Given the description of an element on the screen output the (x, y) to click on. 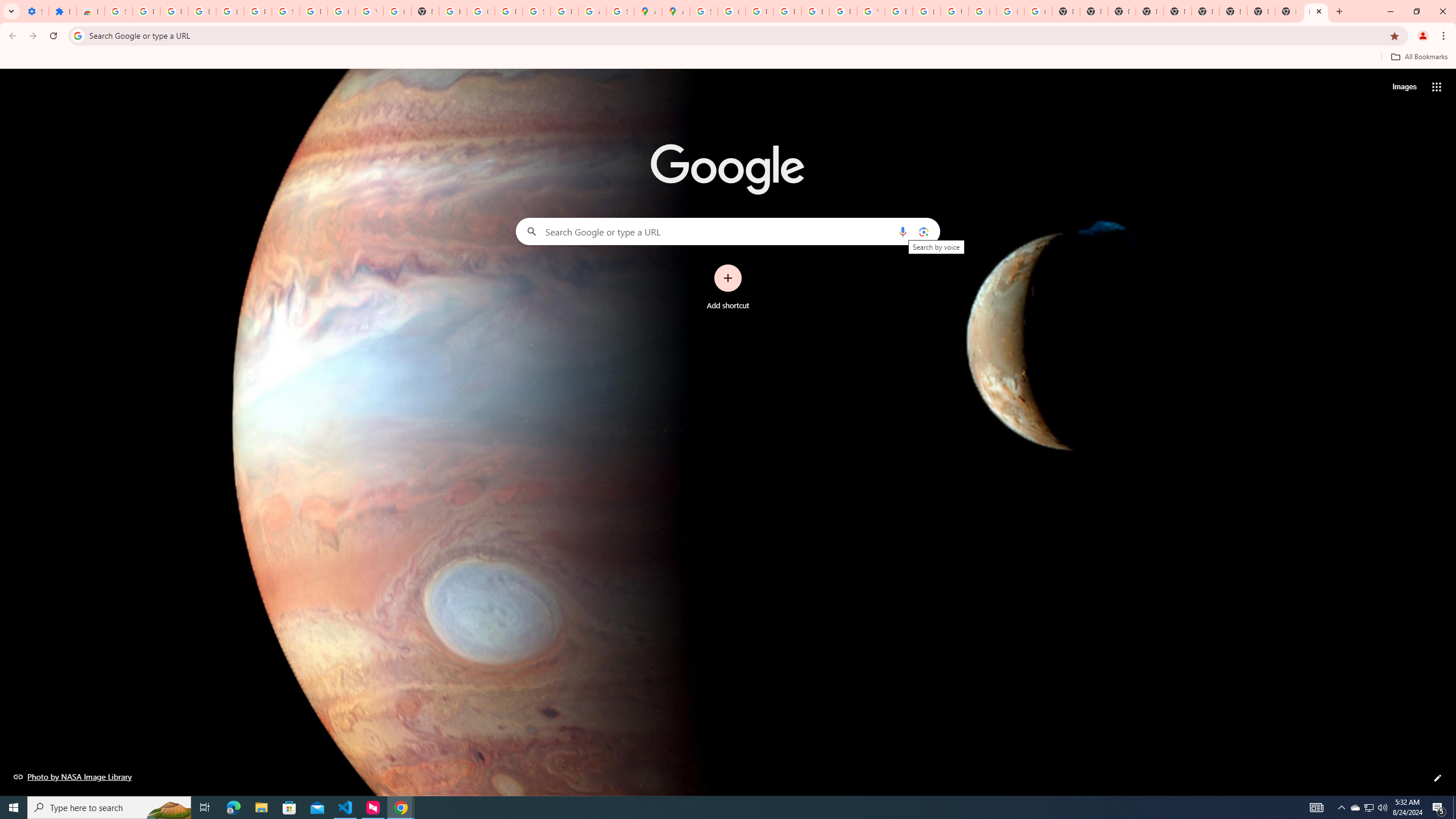
Photo by NASA Image Library (72, 776)
Sign in - Google Accounts (536, 11)
Sign in - Google Accounts (285, 11)
YouTube (369, 11)
Learn how to find your photos - Google Photos Help (229, 11)
